Given the description of an element on the screen output the (x, y) to click on. 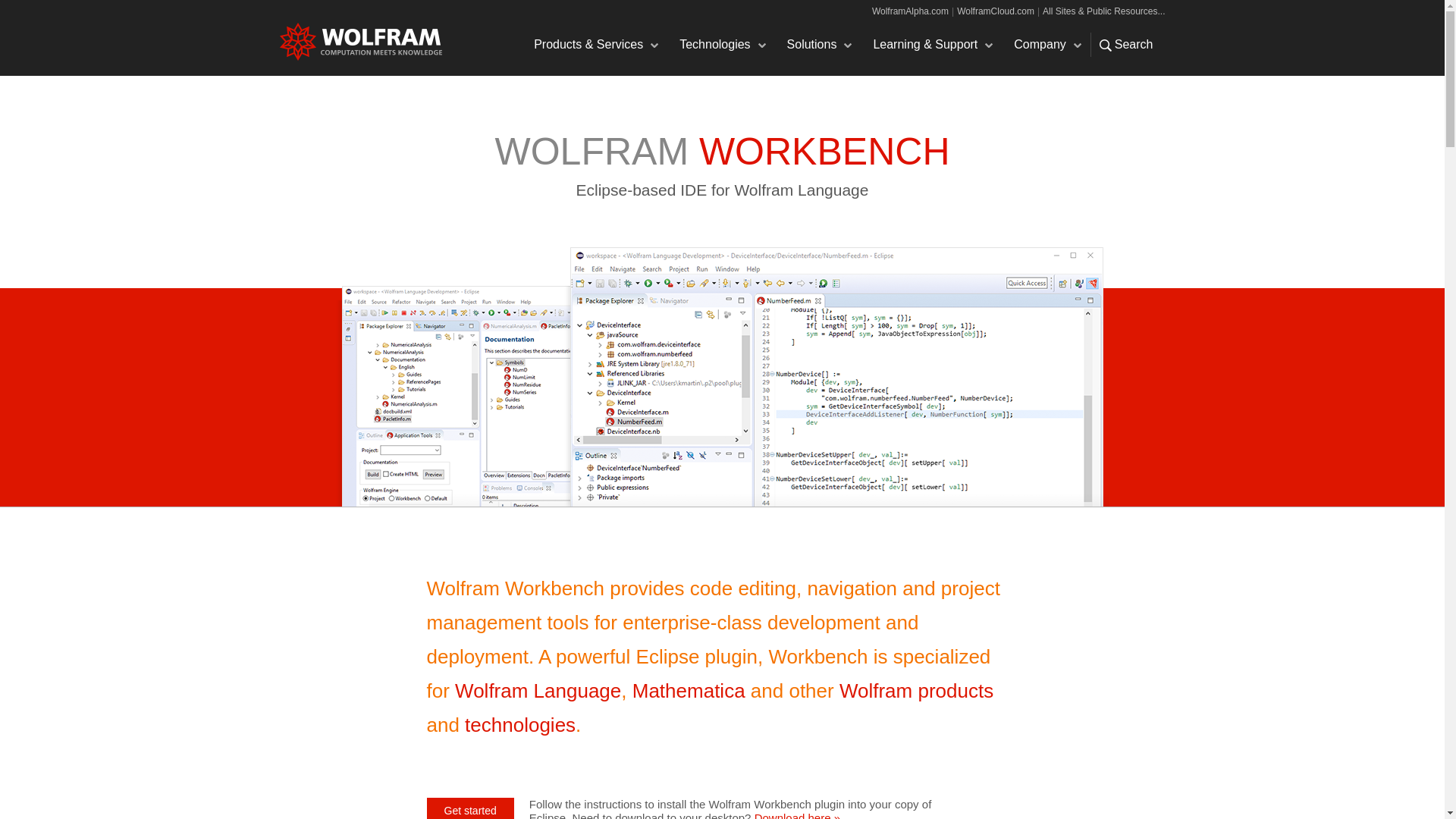
WolframAlpha.com (910, 10)
WolframCloud.com (994, 10)
